Given the description of an element on the screen output the (x, y) to click on. 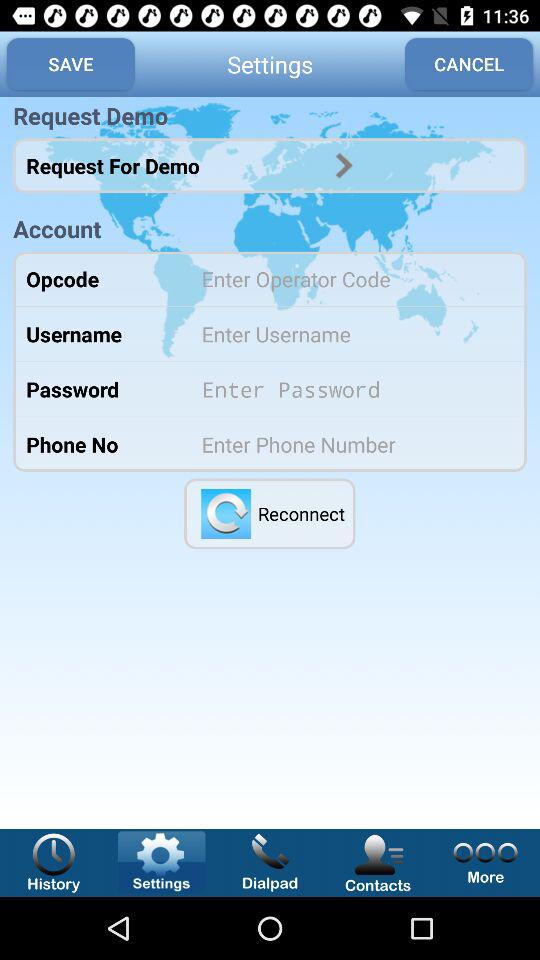
tap the app next to settings (469, 64)
